Given the description of an element on the screen output the (x, y) to click on. 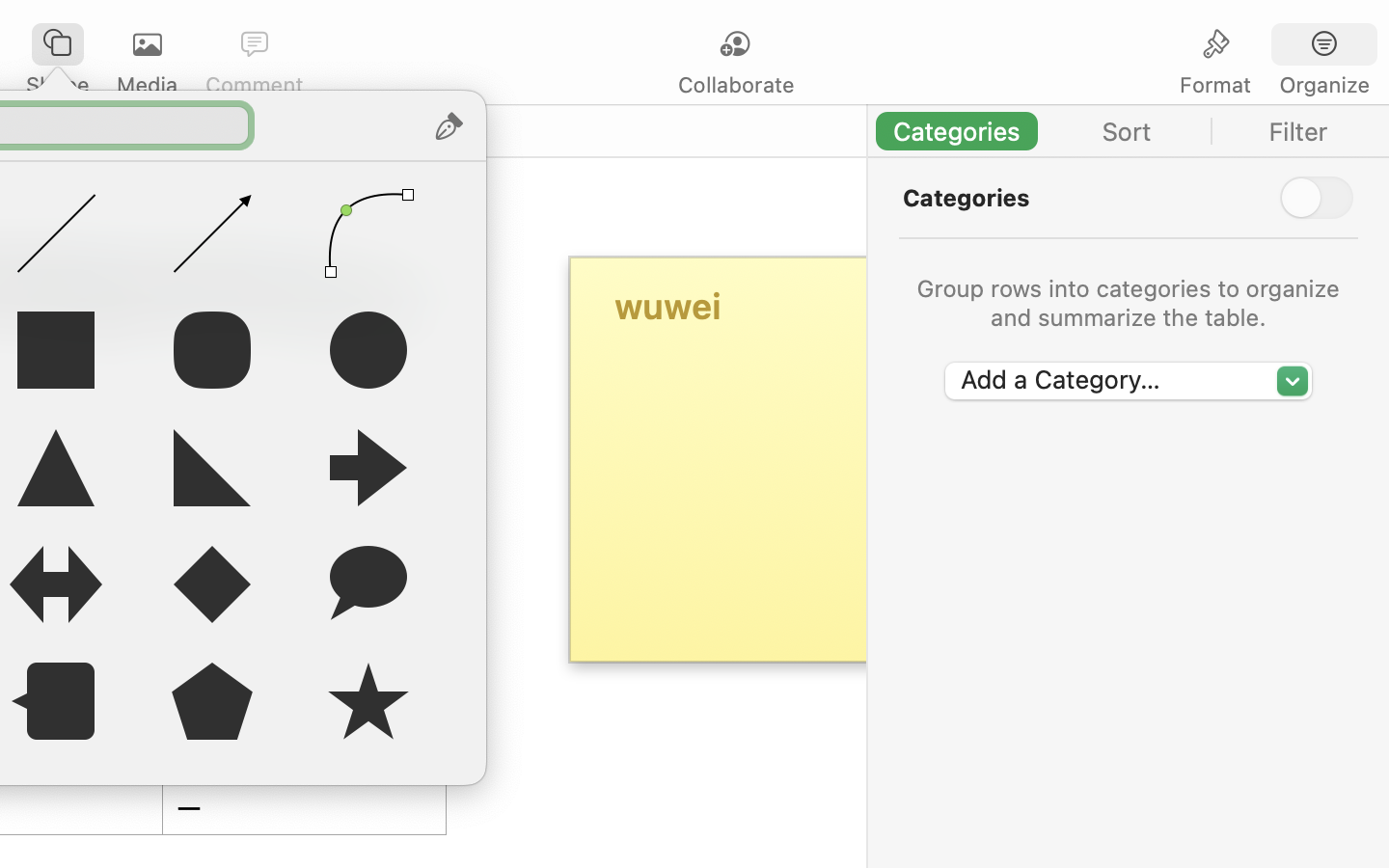
Format Element type: AXStaticText (1215, 84)
Categories Element type: AXStaticText (966, 197)
